Given the description of an element on the screen output the (x, y) to click on. 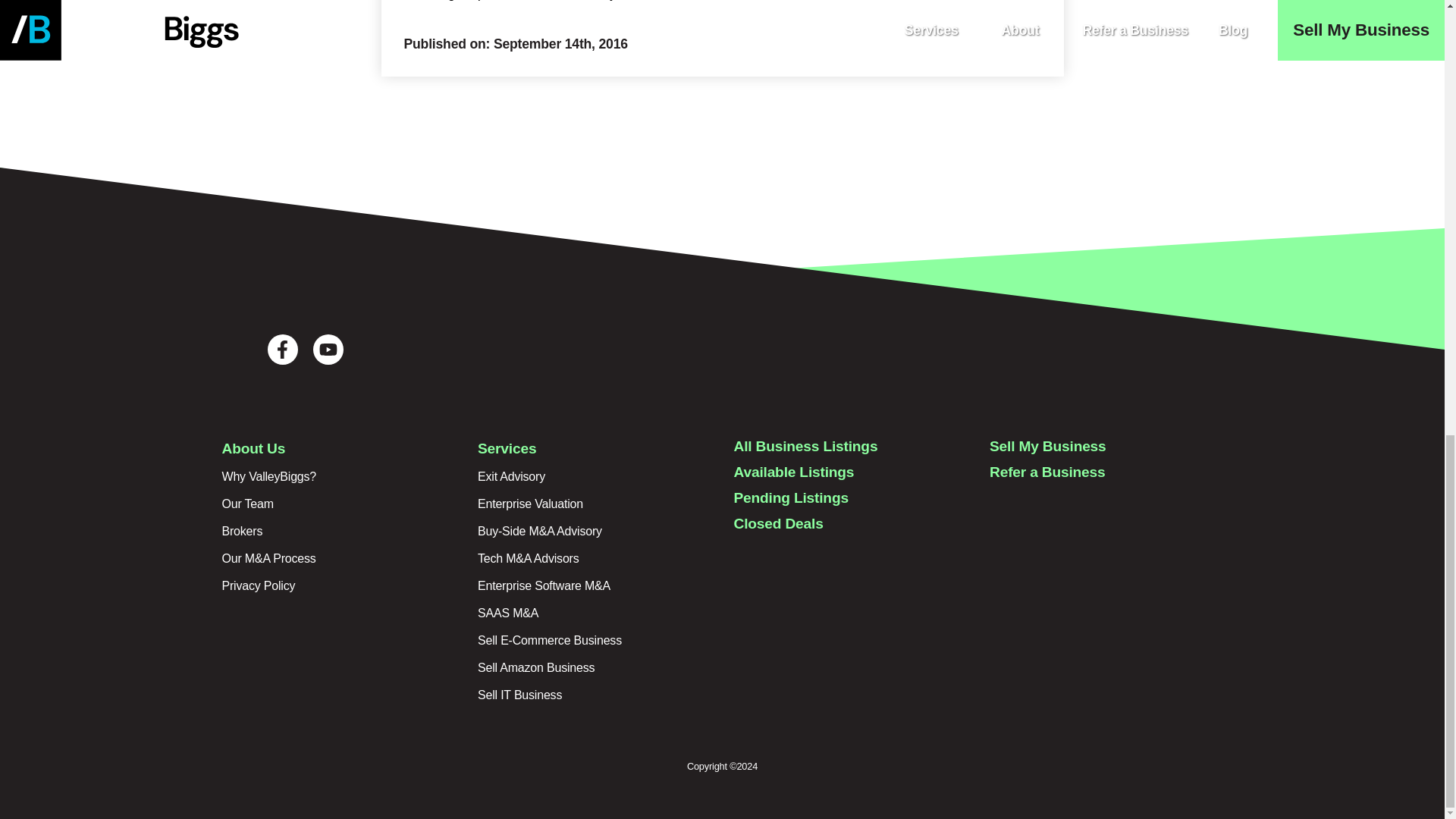
Privacy Policy (258, 585)
Enterprise Valuation (530, 503)
Our Team (247, 503)
Sell Amazon Business (535, 667)
Sell E-Commerce Business (549, 640)
Brokers (241, 530)
Sell IT Business (519, 694)
All Business Listings (805, 446)
Exit Advisory (510, 476)
Why ValleyBiggs? (268, 476)
